Given the description of an element on the screen output the (x, y) to click on. 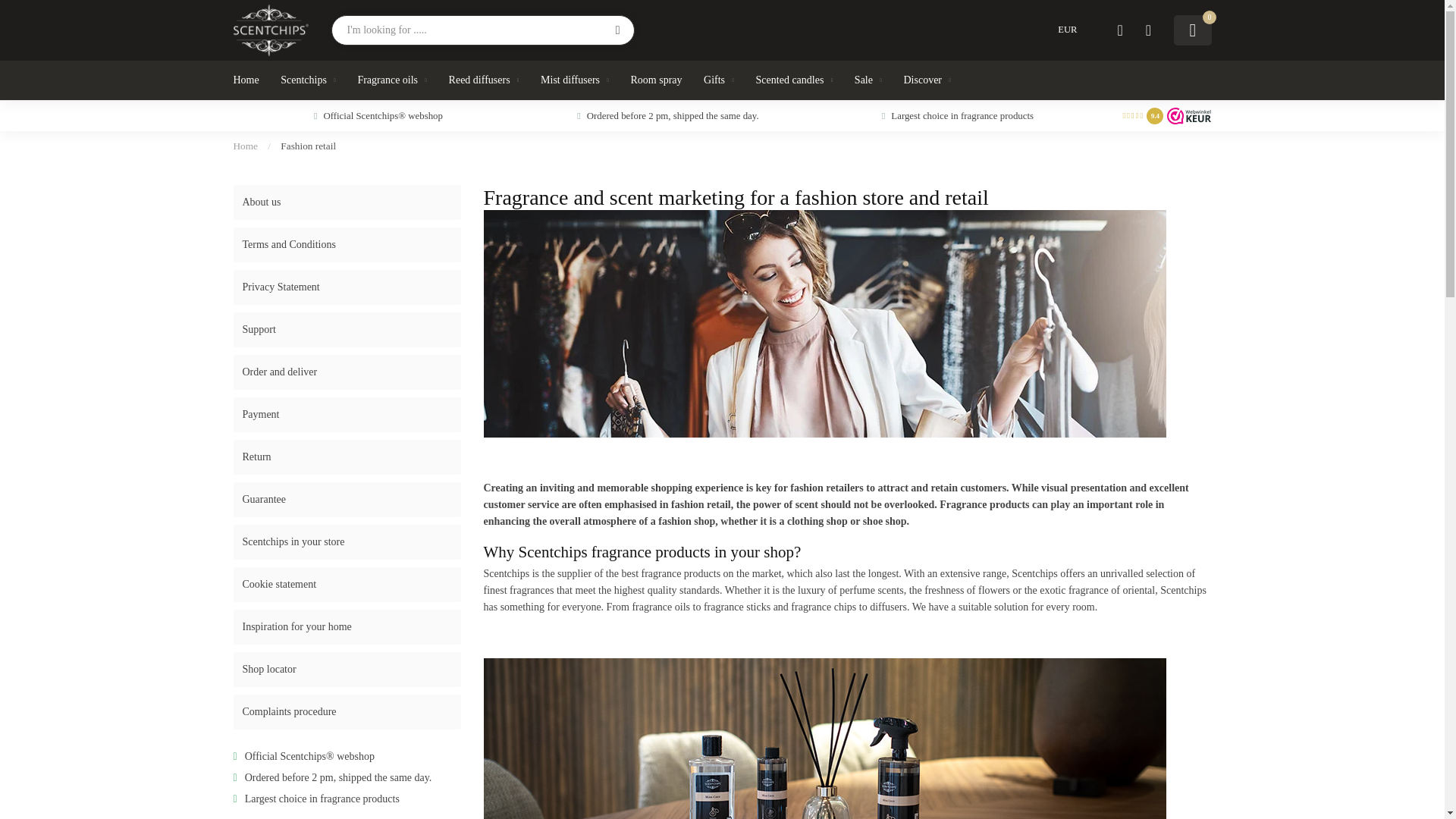
Fragrance oils (391, 79)
Home (245, 145)
Room spray (656, 79)
Scentchips (308, 79)
1 (1060, 218)
Mist diffusers (574, 79)
0 (1192, 30)
Reed diffusers (483, 79)
